Given the description of an element on the screen output the (x, y) to click on. 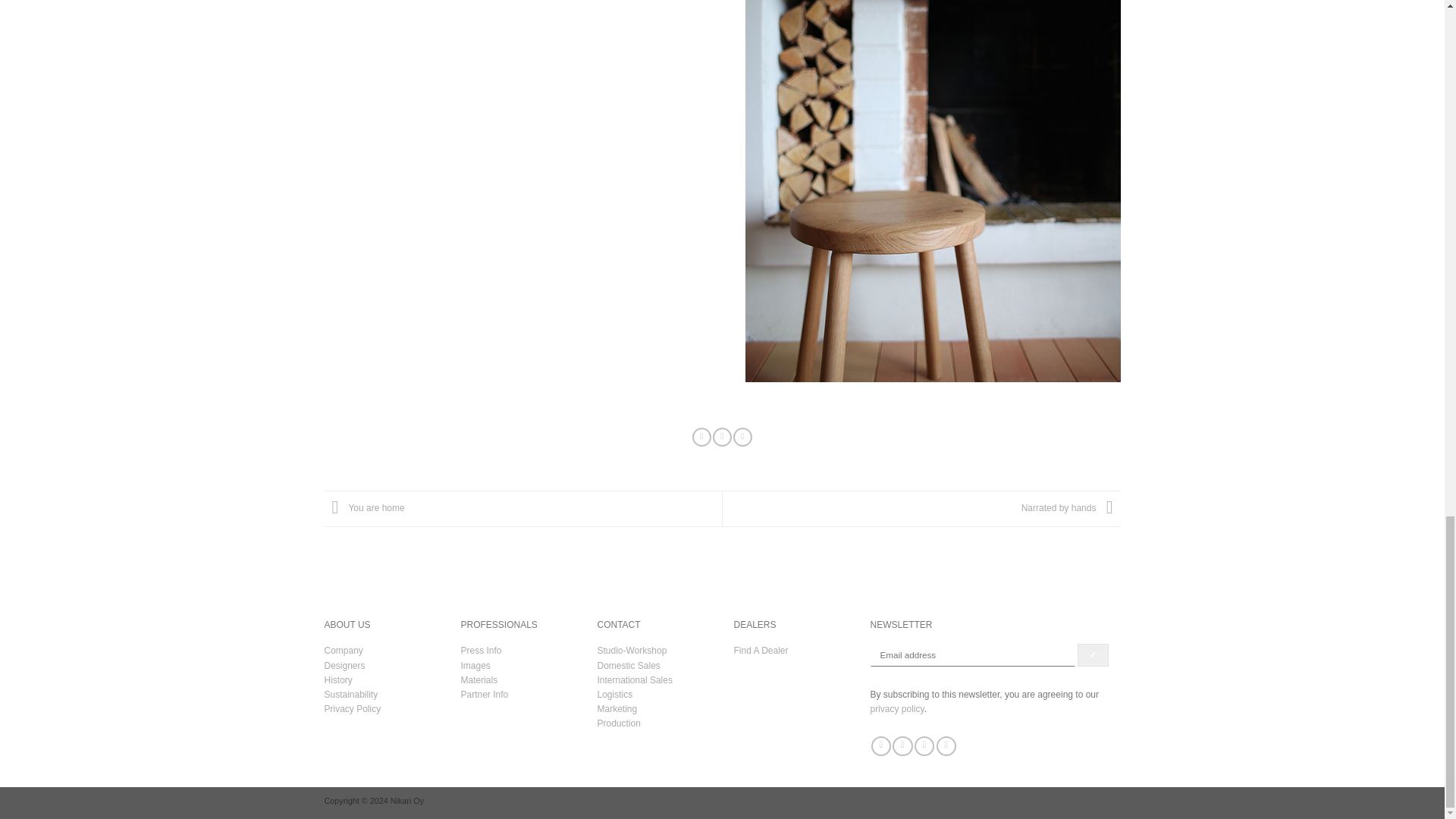
Domestic Sales (628, 665)
privacy policy (897, 708)
Narrated by hands (1071, 507)
Follow on Twitter (924, 746)
Studio-Workshop (631, 650)
Marketing (616, 708)
Share on Facebook (702, 437)
Company (343, 650)
Logistics (614, 694)
Follow on Instagram (902, 746)
